Given the description of an element on the screen output the (x, y) to click on. 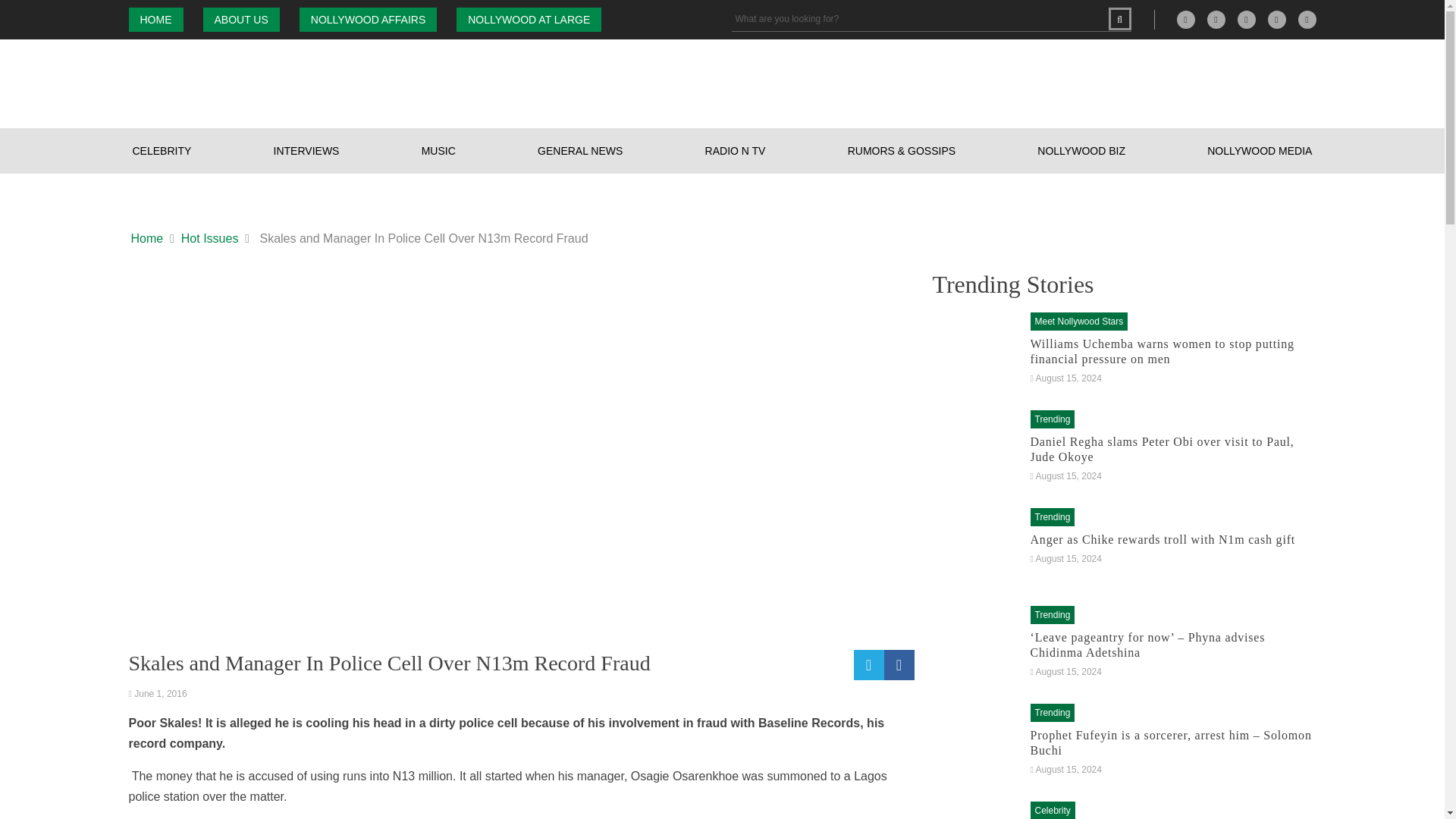
NOLLYWOOD BIZ (1081, 150)
Twitter (1276, 19)
Youtube (1307, 19)
Home (147, 239)
instagram (1246, 19)
RADIO N TV (735, 150)
GENERAL NEWS (580, 150)
Facebook (1216, 19)
NOLLYWOOD AFFAIRS (367, 19)
HOME (156, 19)
